Given the description of an element on the screen output the (x, y) to click on. 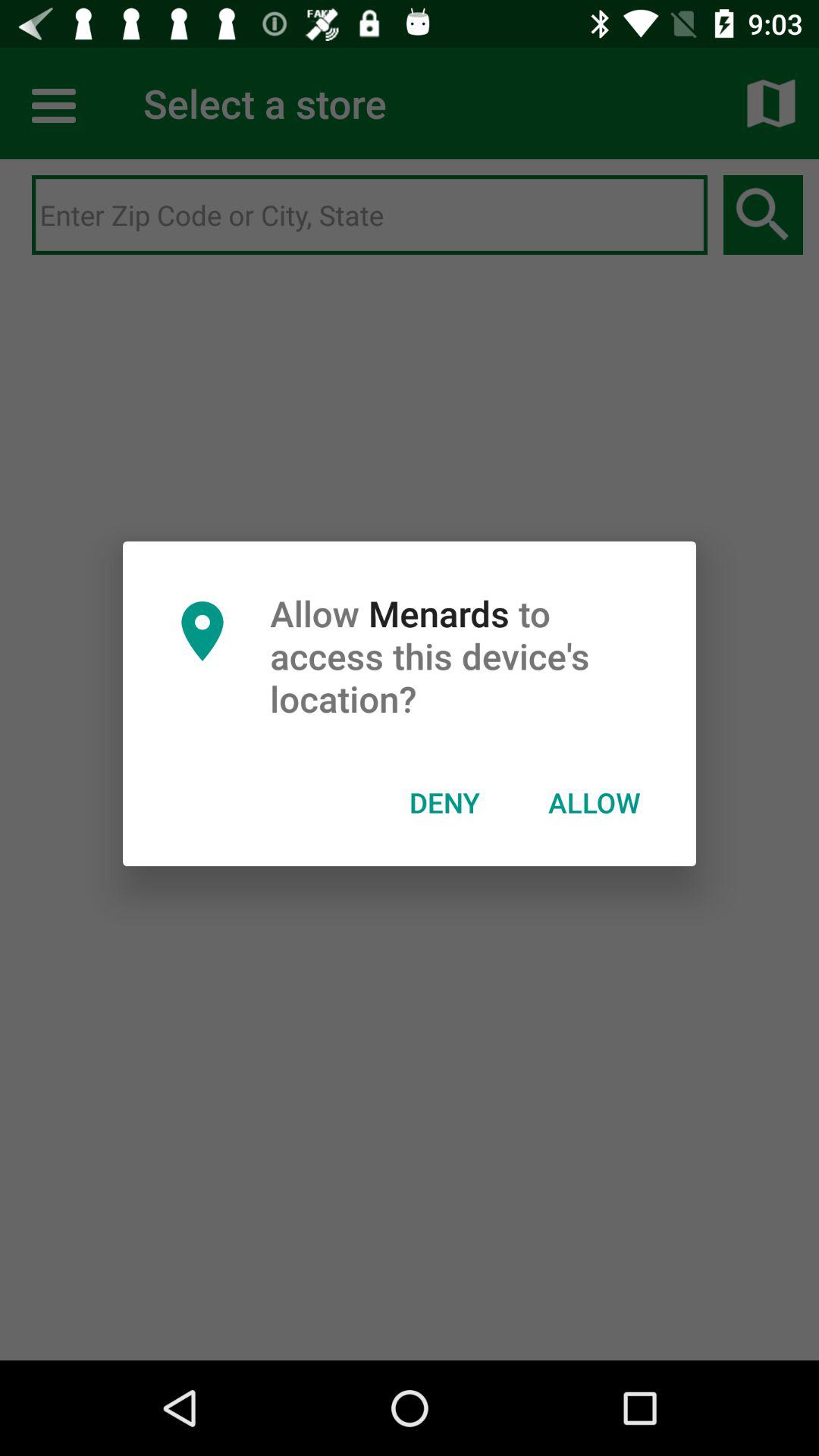
go to customize (55, 103)
